Given the description of an element on the screen output the (x, y) to click on. 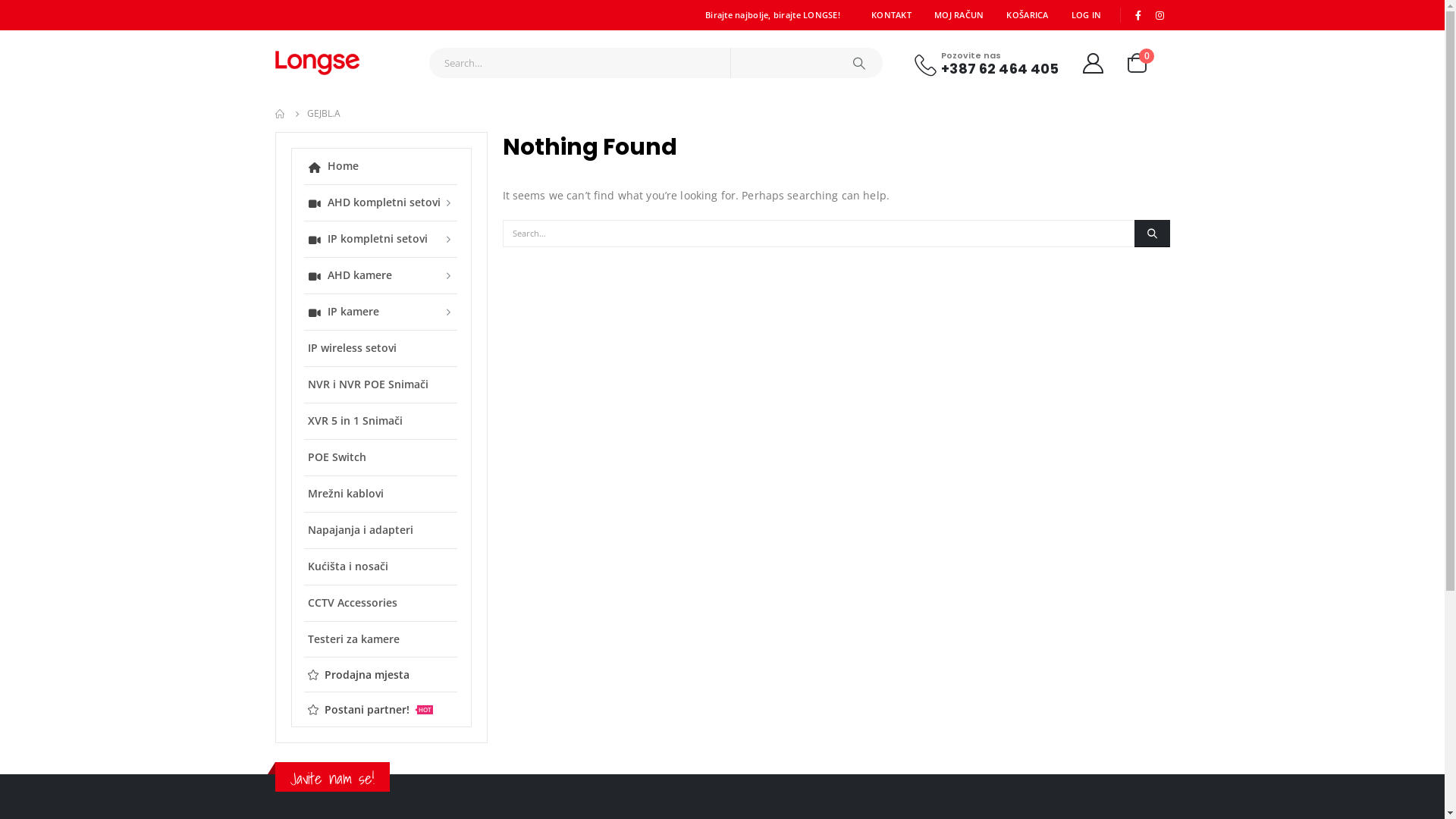
Instagram Element type: hover (1160, 15)
IP kamere Element type: text (379, 311)
Go to Home Page Element type: hover (279, 113)
Facebook Element type: hover (1138, 15)
AHD kompletni setovi Element type: text (379, 201)
Home Element type: text (379, 165)
Postani partner!HOT Element type: text (379, 709)
POE Switch Element type: text (379, 456)
Prodajna mjesta Element type: text (379, 674)
IP kompletni setovi Element type: text (379, 238)
IP wireless setovi Element type: text (379, 347)
Longse - Oprema za videonadzor Element type: hover (316, 62)
Search Element type: hover (858, 62)
CCTV Accessories Element type: text (379, 602)
LOG IN Element type: text (1086, 14)
AHD kamere Element type: text (379, 274)
KONTAKT Element type: text (890, 14)
Testeri za kamere Element type: text (379, 638)
Napajanja i adapteri Element type: text (379, 529)
